Given the description of an element on the screen output the (x, y) to click on. 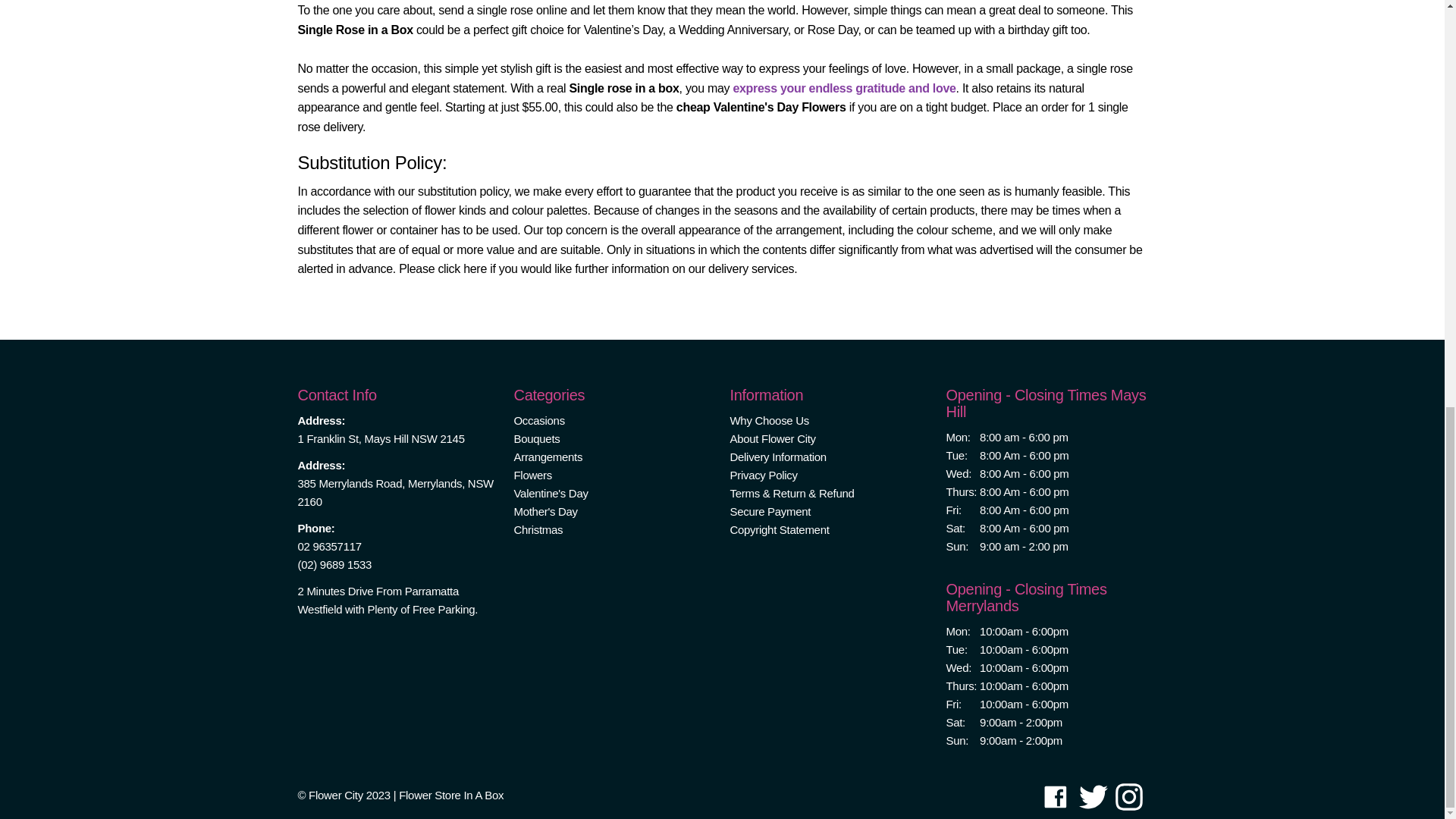
facebook (1055, 797)
Valentine's Day (550, 492)
Arrangements (548, 456)
Flowers (532, 474)
Occasions (538, 420)
Christmas (538, 529)
express your endless gratitude and love (843, 88)
Bouquets (536, 438)
Mother's Day (545, 511)
instagram (1128, 796)
